Given the description of an element on the screen output the (x, y) to click on. 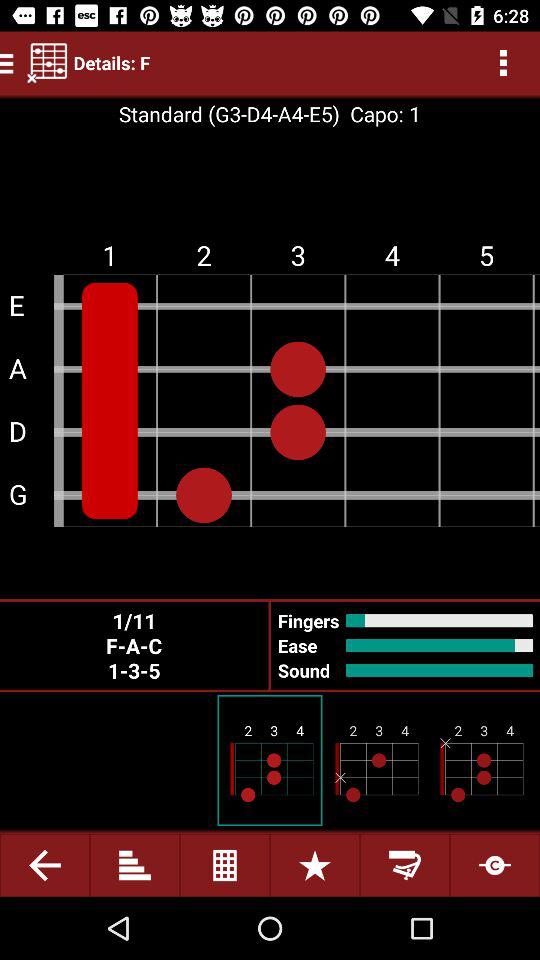
turn off standard g3 d4 icon (228, 113)
